Given the description of an element on the screen output the (x, y) to click on. 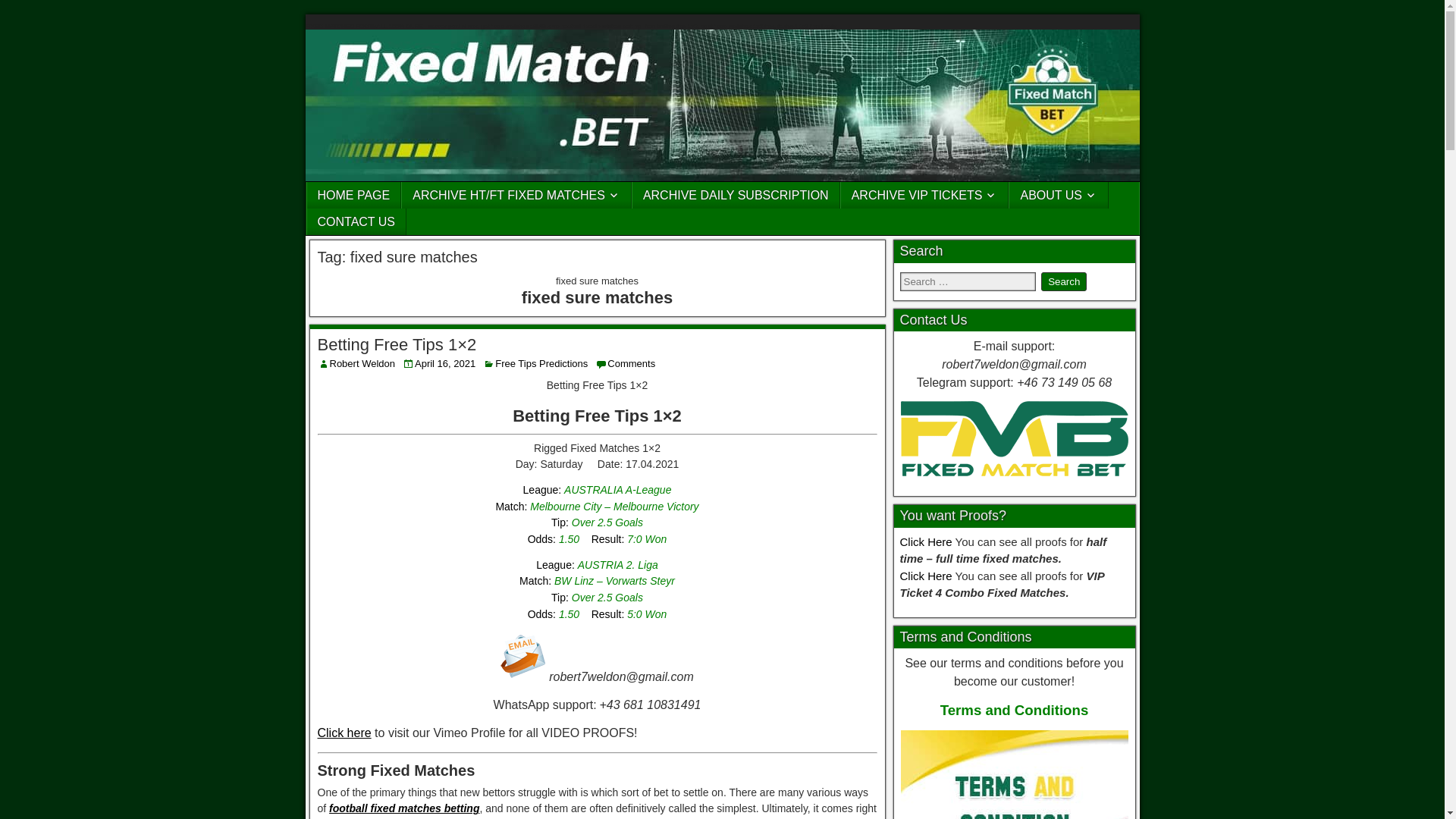
CONTACT US (355, 221)
Click here (344, 732)
ABOUT US (1058, 194)
football fixed matches betting (404, 808)
Click Here (925, 541)
ARCHIVE VIP TICKETS (925, 194)
Search (1063, 281)
ARCHIVE DAILY SUBSCRIPTION (735, 194)
Comments (631, 363)
rigged sources betting soccer tips (523, 656)
